Given the description of an element on the screen output the (x, y) to click on. 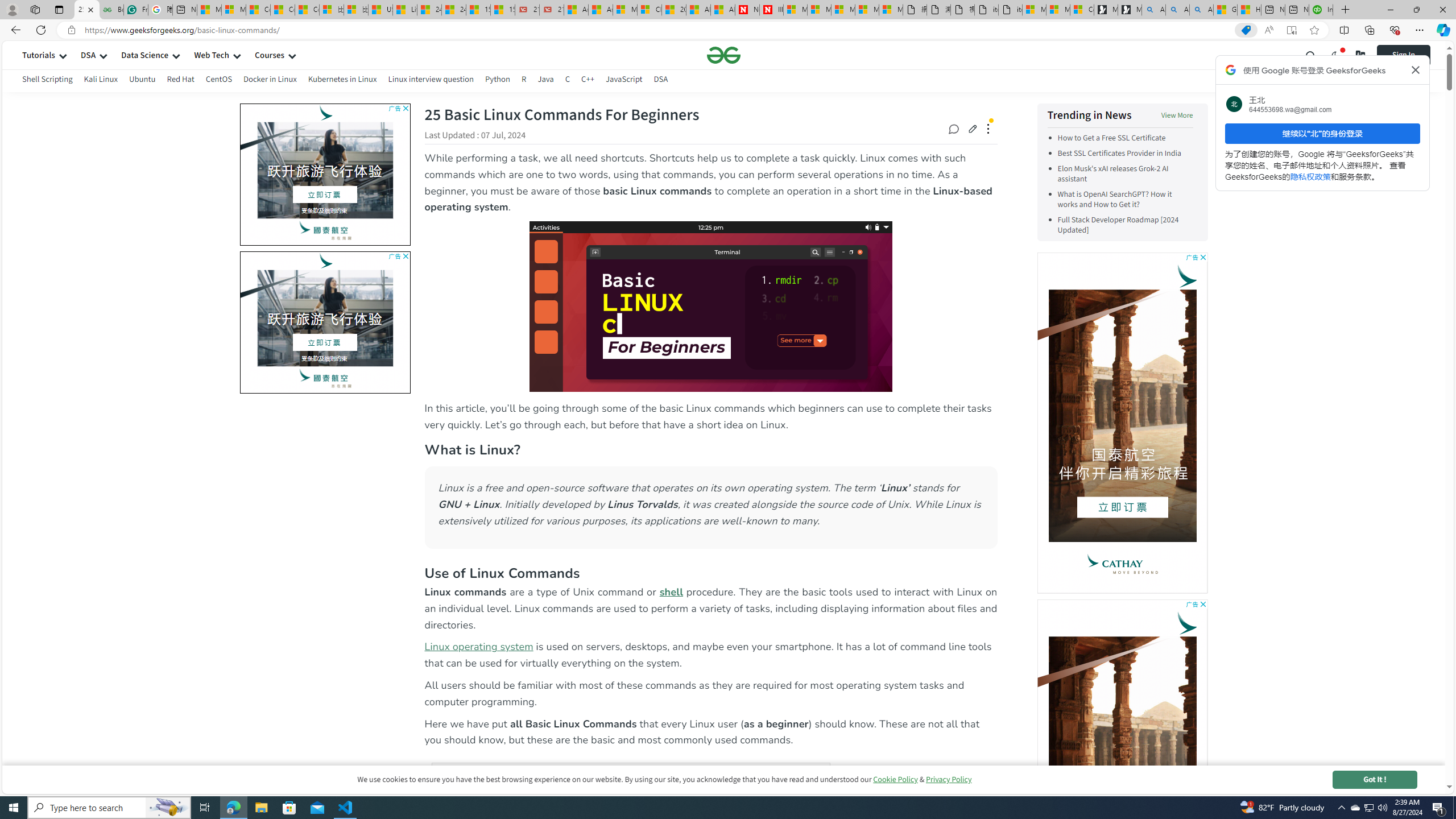
Data Science (144, 55)
toggle theme (1335, 54)
View More (1176, 115)
Full Stack Developer Roadmap [2024 Updated] (1125, 224)
DSA (660, 80)
Linux interview question (430, 79)
Lightbox (723, 417)
R (523, 80)
How to Get a Free SSL Certificate (1125, 137)
